Given the description of an element on the screen output the (x, y) to click on. 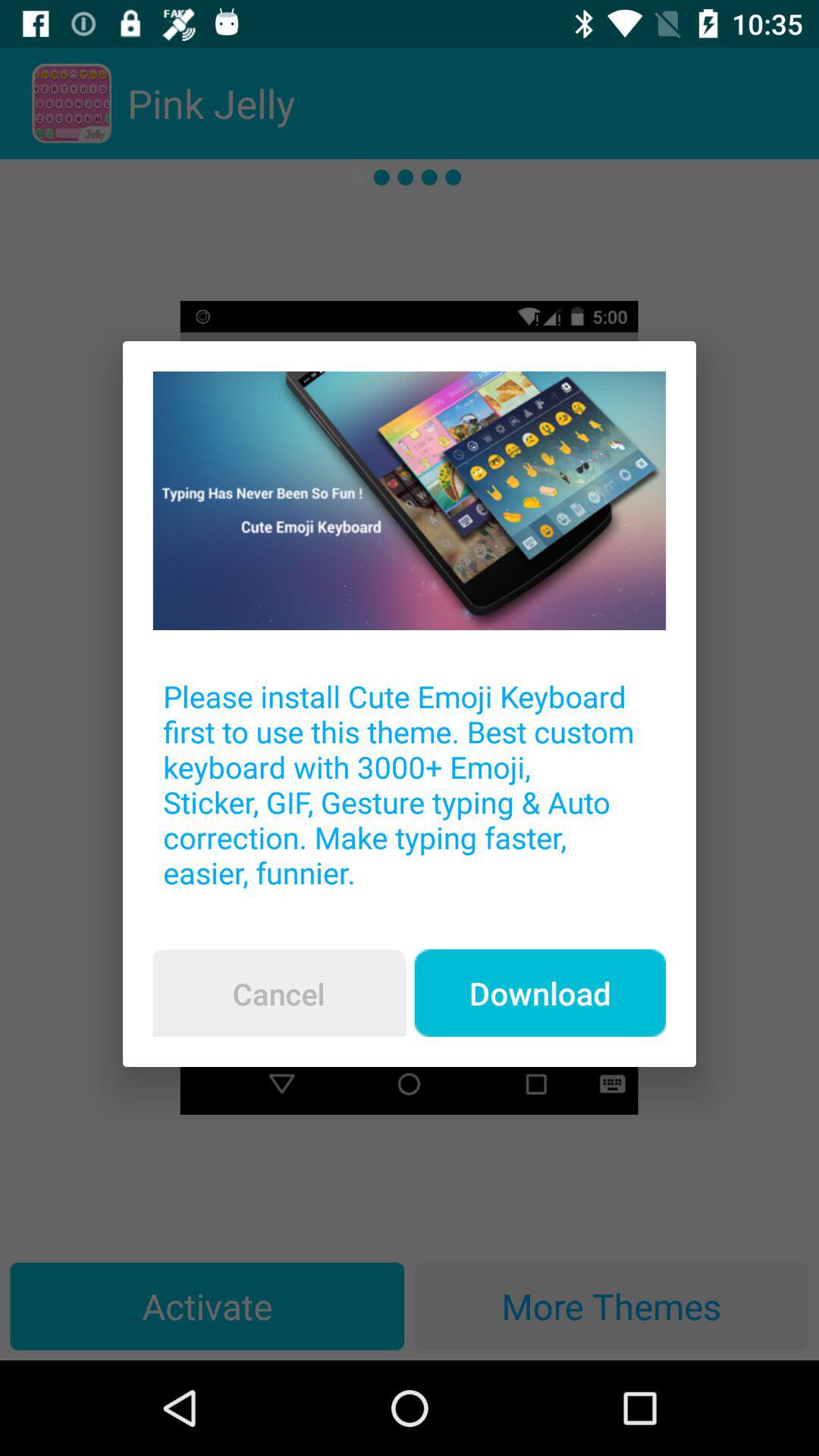
tap cancel icon (278, 993)
